Given the description of an element on the screen output the (x, y) to click on. 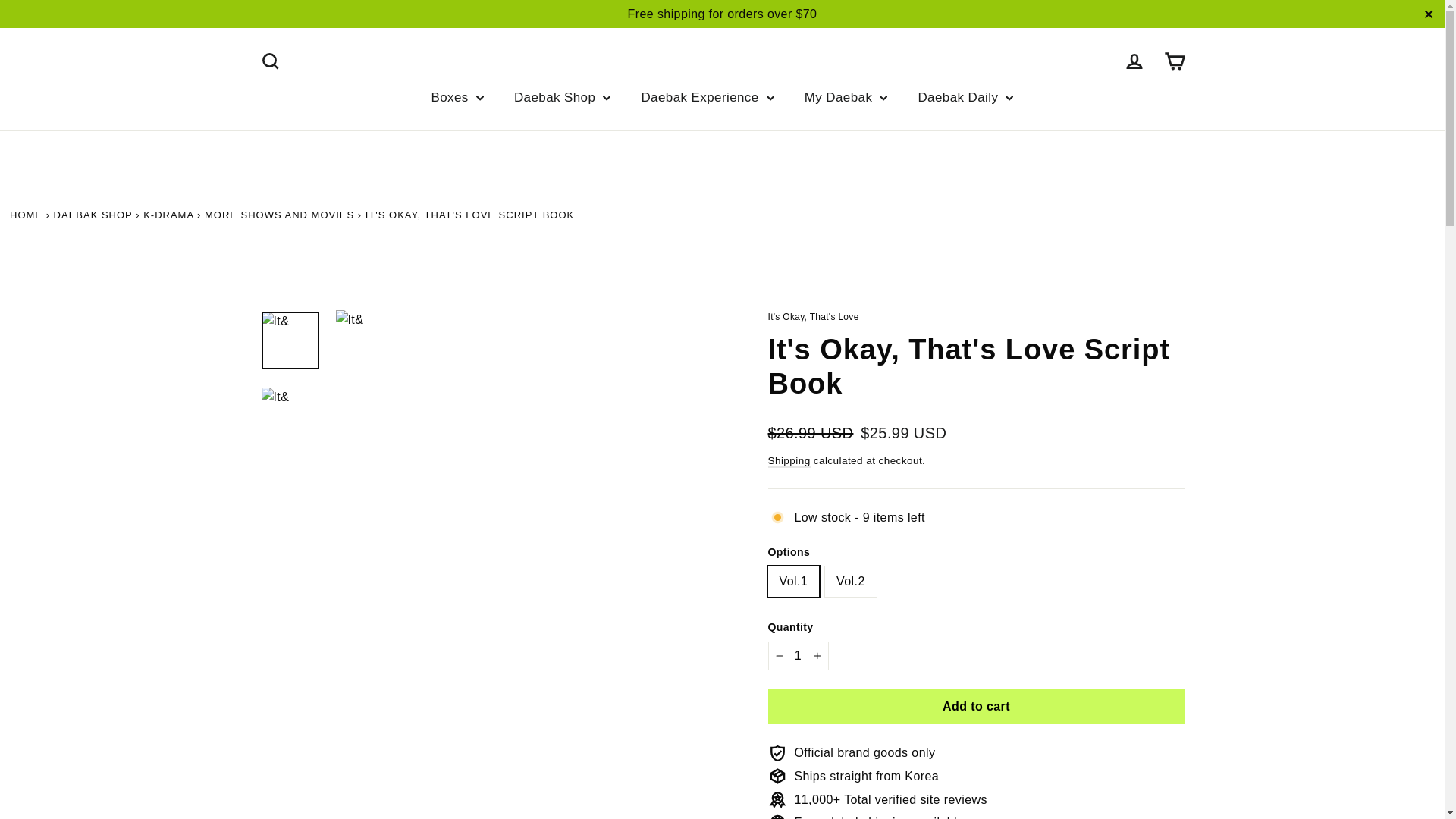
home (28, 214)
More Shows and Movies (279, 214)
1 (797, 655)
Daebak Shop (92, 214)
